Given the description of an element on the screen output the (x, y) to click on. 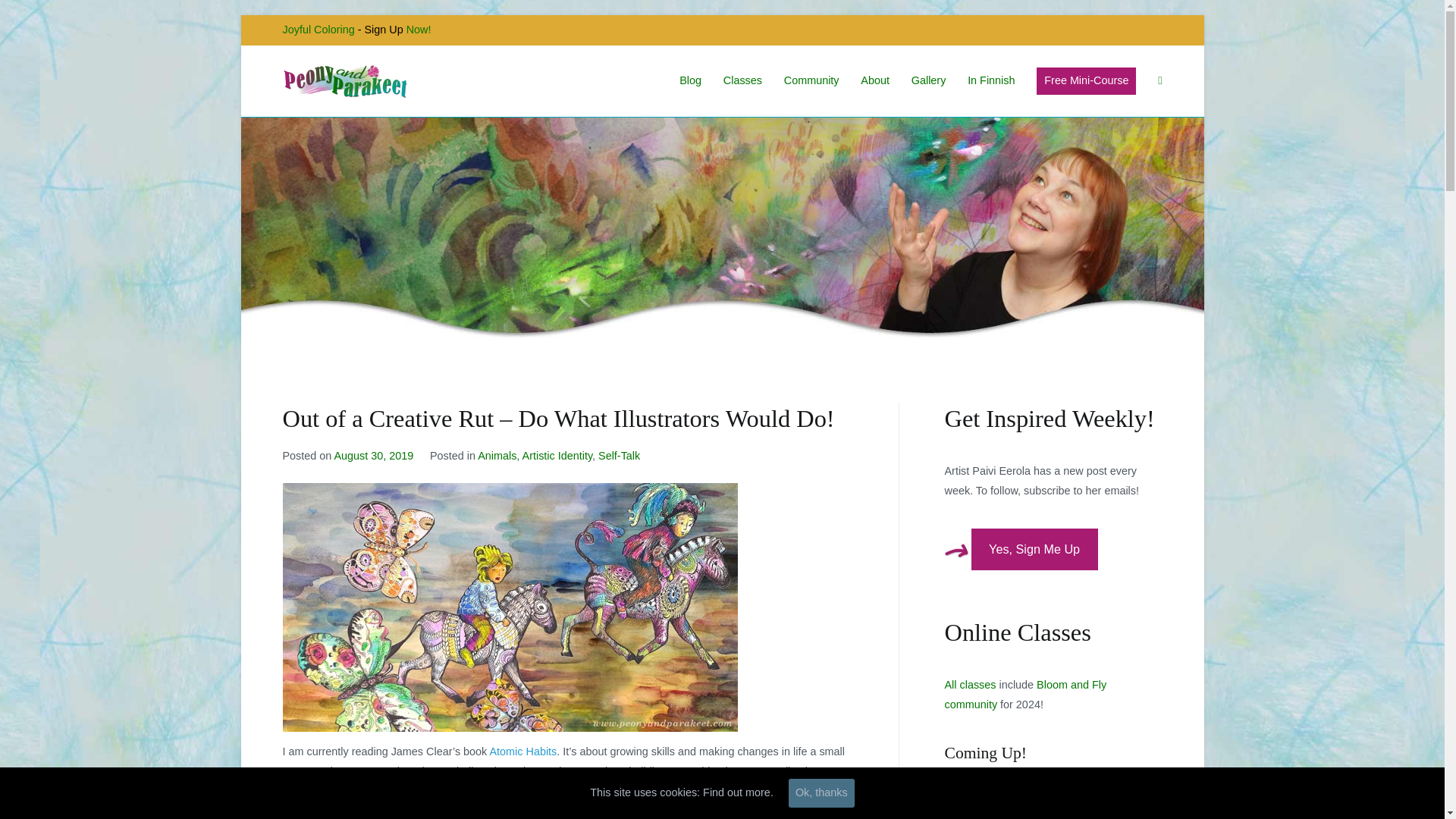
Search (28, 13)
Animals (496, 455)
Gallery (928, 80)
Self-Talk (619, 455)
Community (812, 80)
Peony and Parakeet (488, 91)
About (874, 80)
Atomic Habits (523, 751)
Classes (742, 80)
